Given the description of an element on the screen output the (x, y) to click on. 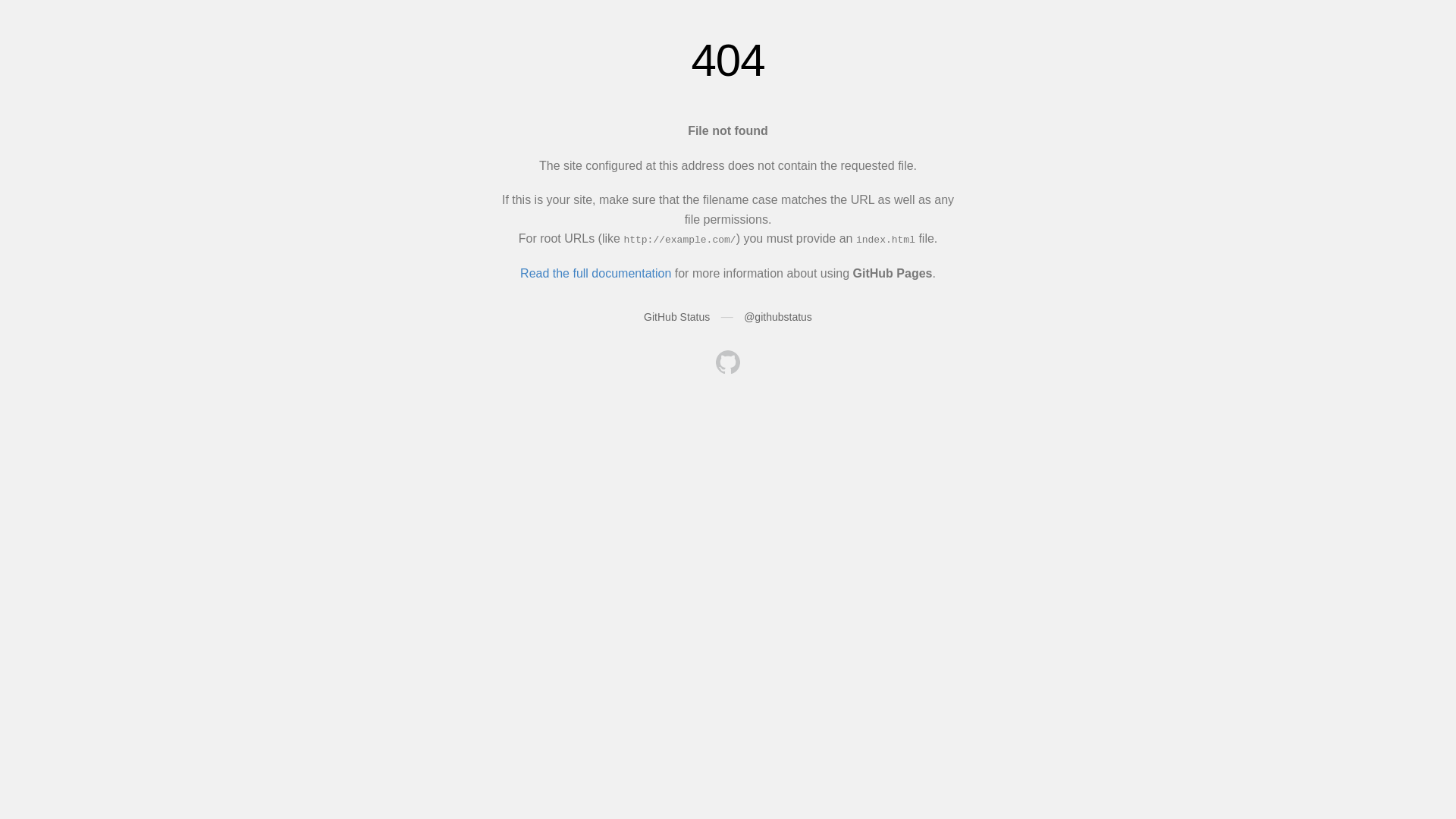
GitHub Status Element type: text (676, 316)
Read the full documentation Element type: text (595, 272)
@githubstatus Element type: text (777, 316)
